Given the description of an element on the screen output the (x, y) to click on. 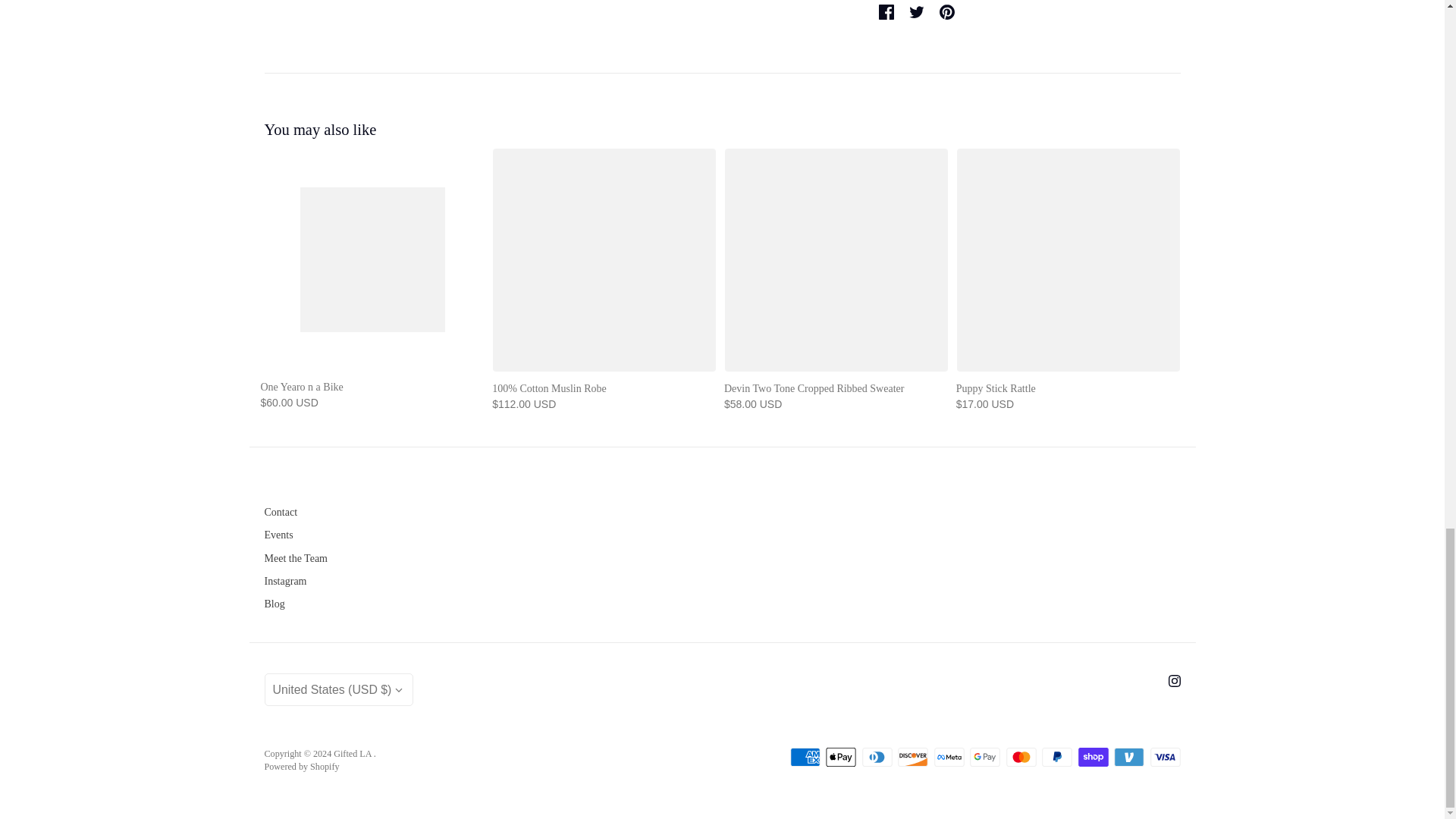
Meta Pay (948, 756)
Mastercard (1020, 756)
Discover (913, 756)
Google Pay (984, 756)
Apple Pay (840, 756)
Diners Club (876, 756)
American Express (805, 756)
